Given the description of an element on the screen output the (x, y) to click on. 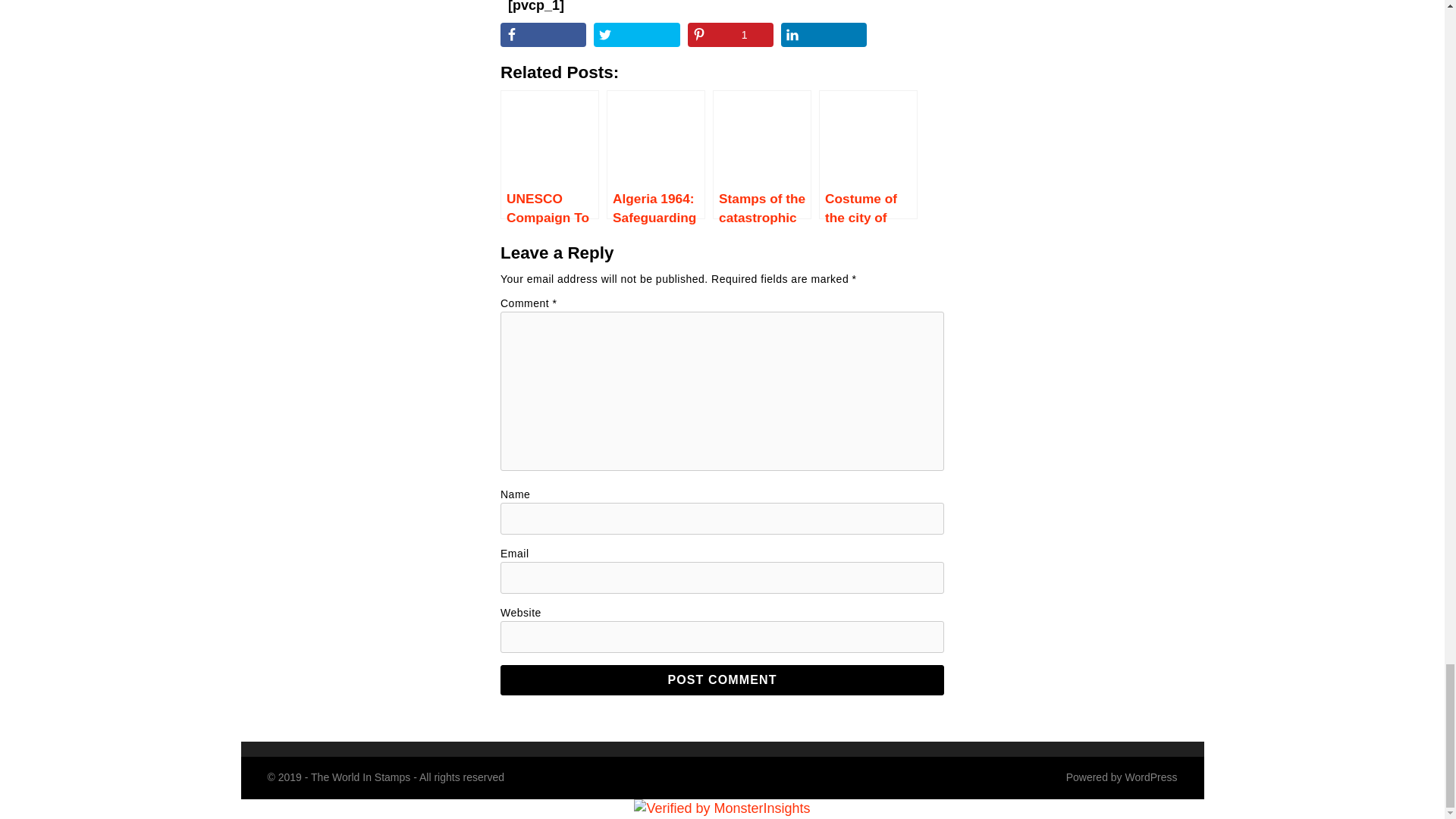
Share on Twitter (636, 34)
Stamps of the catastrophic Floods of 1963 in Morocco (761, 154)
Algeria 1964: Safeguarding of the monuments of Nubia (655, 154)
Share on Facebook (543, 34)
Costume of the city of Mahardah: Syria 1963 (867, 154)
Share on Pinterest (730, 34)
Share on LinkedIn (823, 34)
1 (730, 34)
Post Comment (721, 680)
